Given the description of an element on the screen output the (x, y) to click on. 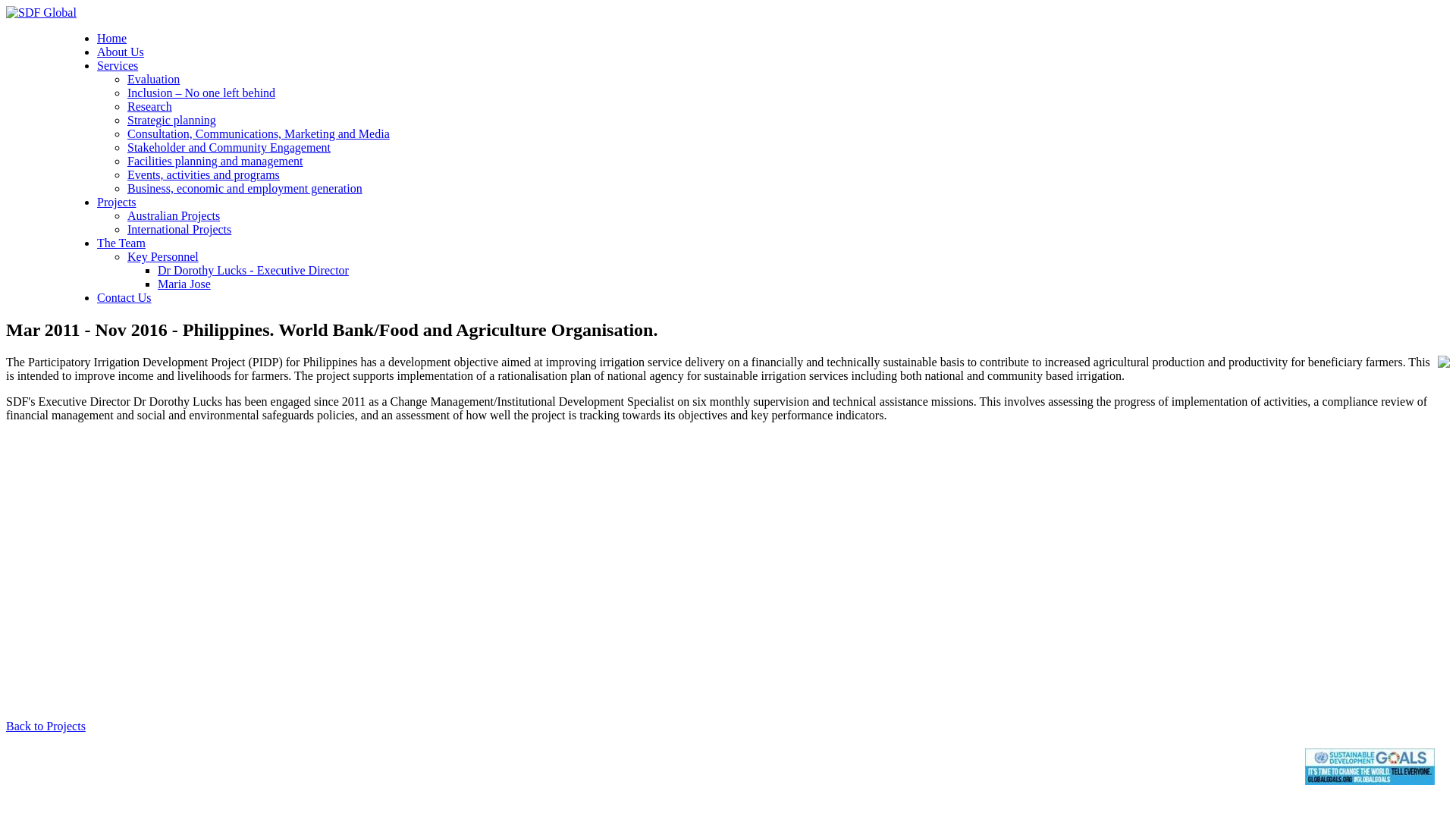
Consultation, Communications, Marketing and Media Element type: text (258, 133)
Maria Jose Element type: text (183, 283)
Evaluation Element type: text (153, 78)
Dr Dorothy Lucks - Executive Director Element type: text (252, 269)
International Projects Element type: text (179, 228)
Key Personnel Element type: text (162, 256)
Services Element type: text (117, 65)
Events, activities and programs Element type: text (203, 174)
Back to Projects Element type: text (45, 725)
Research Element type: text (149, 106)
Projects Element type: text (116, 201)
Contact Us Element type: text (124, 297)
The Team Element type: text (121, 242)
Stakeholder and Community Engagement Element type: text (228, 147)
Strategic planning Element type: text (171, 119)
Australian Projects Element type: text (173, 215)
SDF Global Element type: hover (41, 12)
Home Element type: text (111, 37)
Facilities planning and management Element type: text (215, 160)
About Us Element type: text (120, 51)
Business, economic and employment generation Element type: text (244, 188)
